Given the description of an element on the screen output the (x, y) to click on. 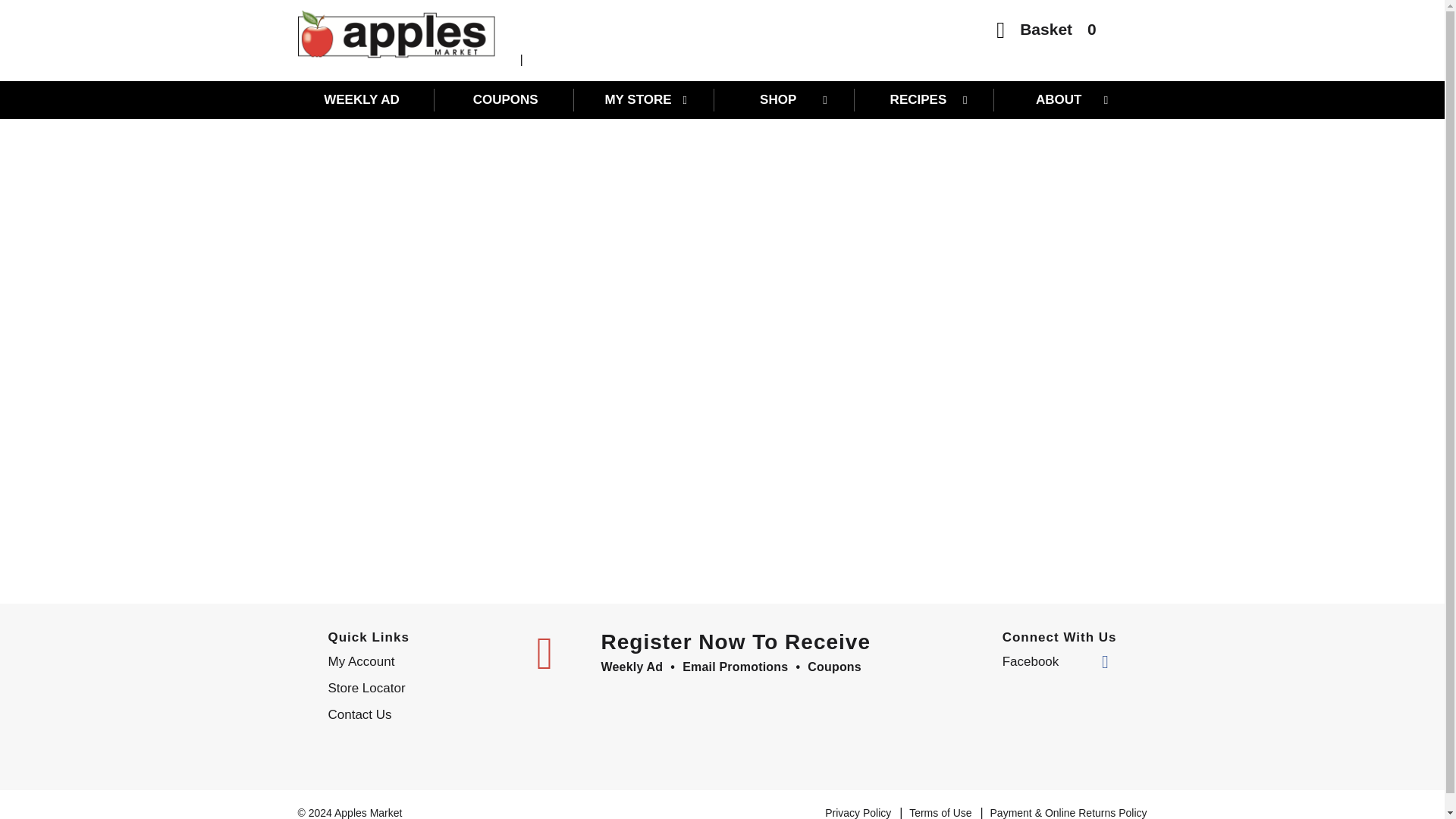
MY STORE (646, 99)
My Account (420, 661)
Basket0 (1045, 33)
SHOP (785, 99)
Facebook (1055, 661)
COUPONS (505, 99)
Store Locator (420, 688)
Contact Us (420, 714)
WEEKLY AD (365, 99)
RECIPES (925, 99)
